Given the description of an element on the screen output the (x, y) to click on. 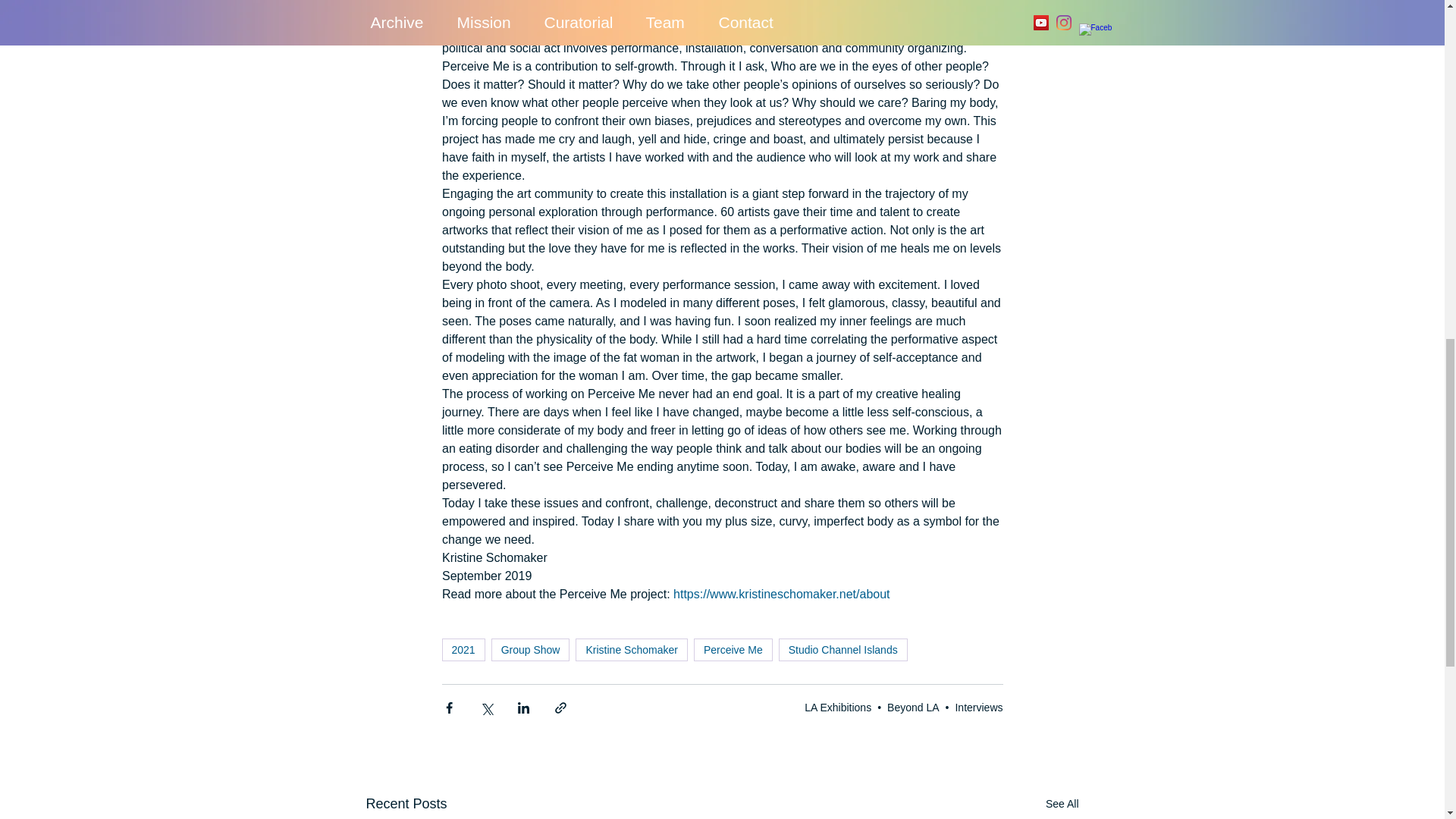
Perceive Me (733, 649)
2021 (462, 649)
See All (1061, 803)
LA Exhibitions (837, 707)
Group Show (531, 649)
Kristine Schomaker (631, 649)
Beyond LA (912, 707)
Studio Channel Islands (842, 649)
Interviews (979, 707)
